Given the description of an element on the screen output the (x, y) to click on. 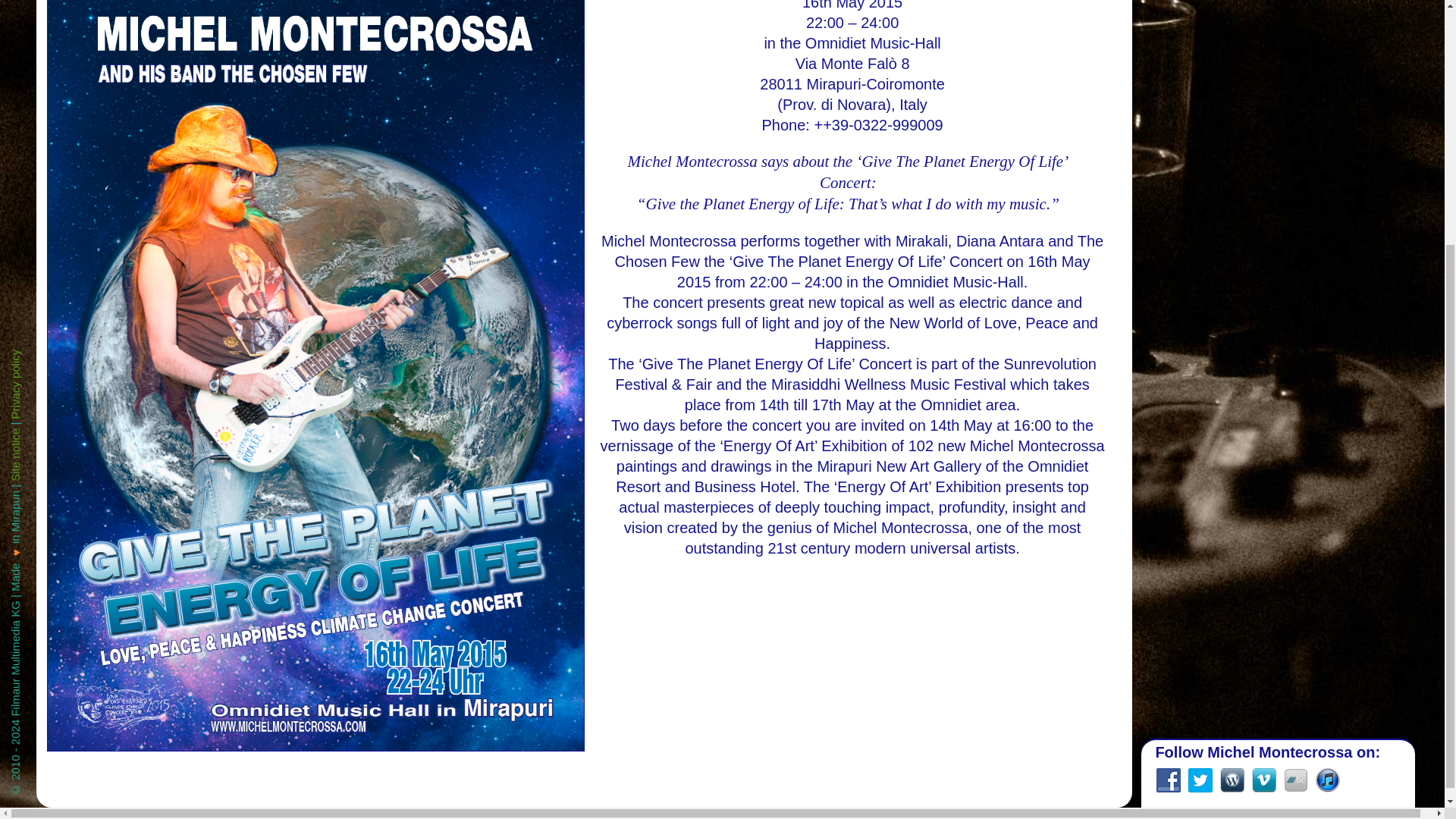
Follow Us on Bandcamp (1295, 432)
Follow Us on Twitter (1200, 432)
Follow Us on iTunes (1327, 432)
Follow Us on Facebook (1168, 432)
Follow Us on Wordpress (1232, 432)
Follow Us on Vimeo (1264, 432)
